Given the description of an element on the screen output the (x, y) to click on. 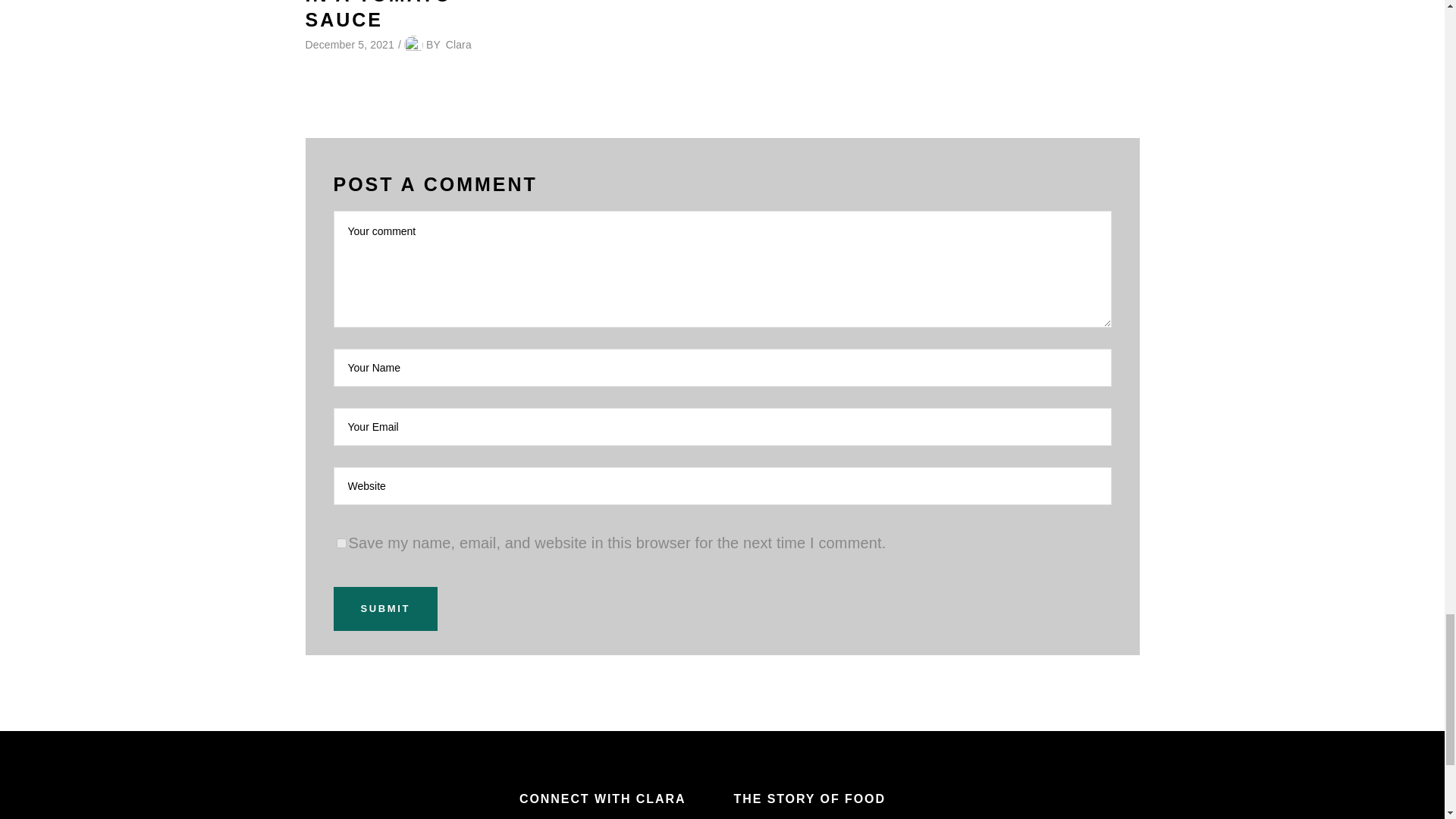
Baked Sausage Beans and Egg in a Tomato sauce (398, 15)
yes (341, 542)
Submit (385, 608)
